Given the description of an element on the screen output the (x, y) to click on. 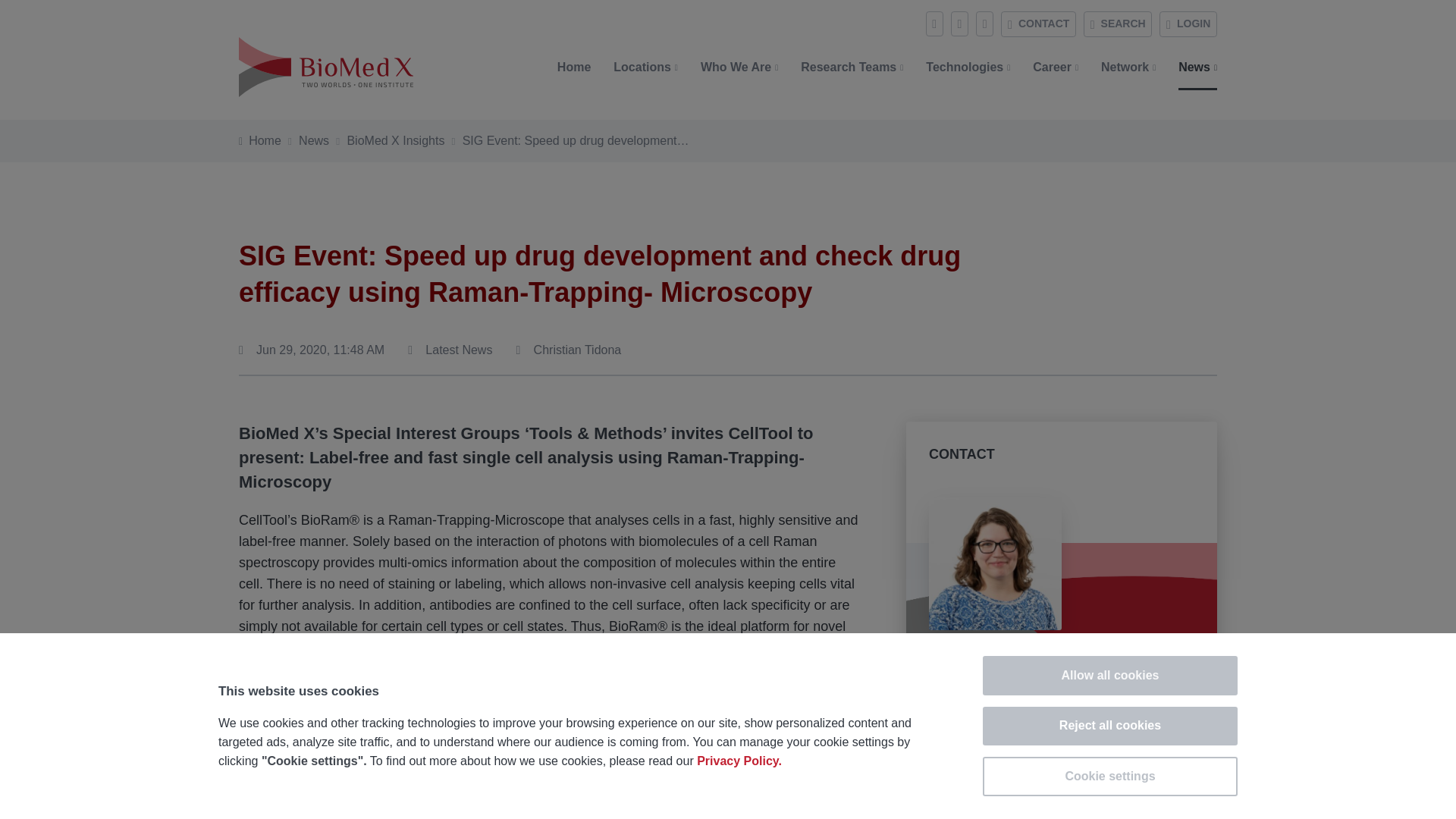
Research Teams (851, 67)
Locations (645, 67)
BioMed X Career Space Login (1187, 23)
Network (1128, 67)
SEARCH (1117, 23)
LOGIN (1187, 23)
Career (1055, 67)
Technologies (968, 67)
Home (574, 67)
Contact BioMed X (1038, 23)
